Given the description of an element on the screen output the (x, y) to click on. 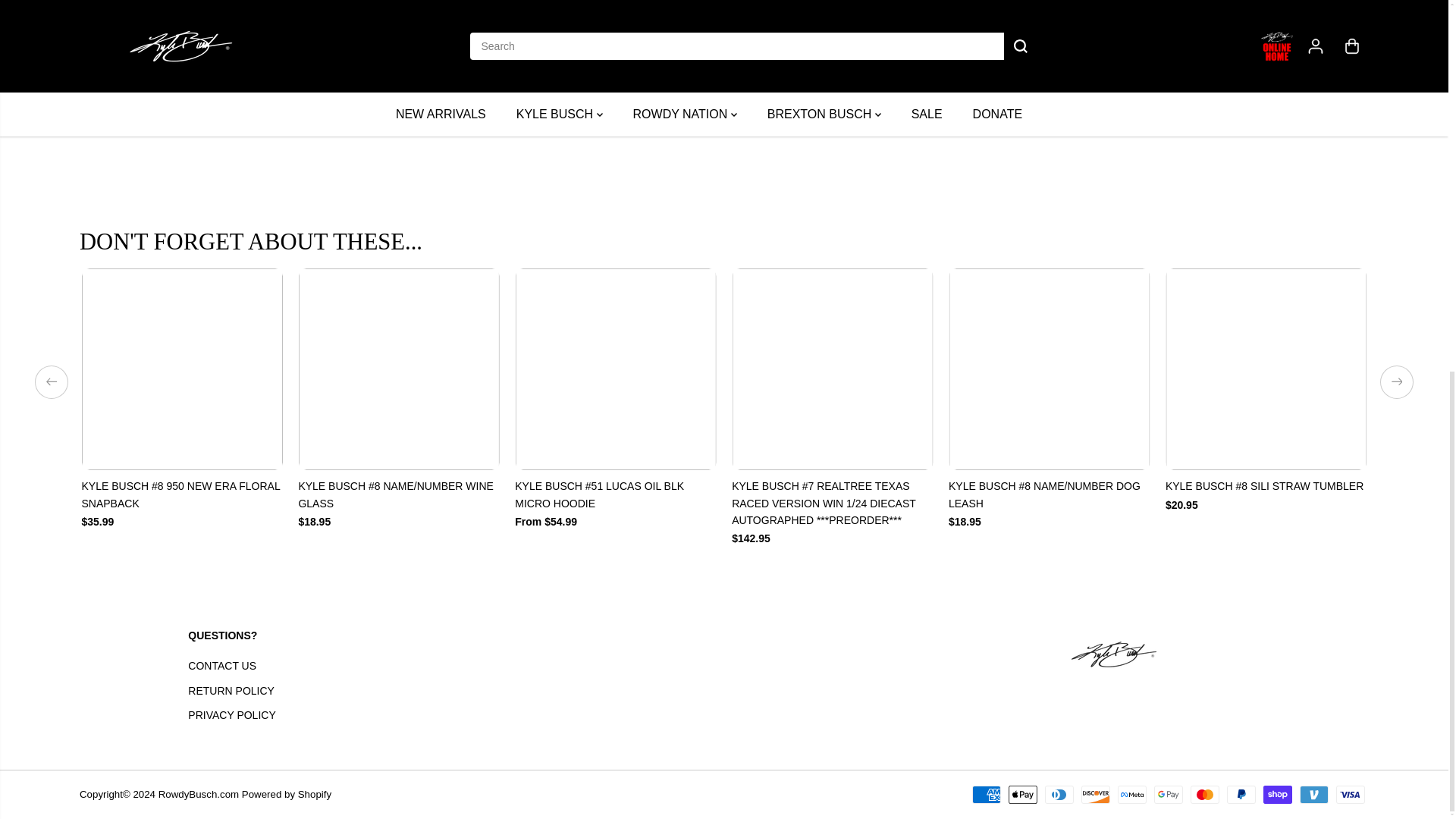
Apple Pay (1022, 794)
American Express (986, 794)
